Given the description of an element on the screen output the (x, y) to click on. 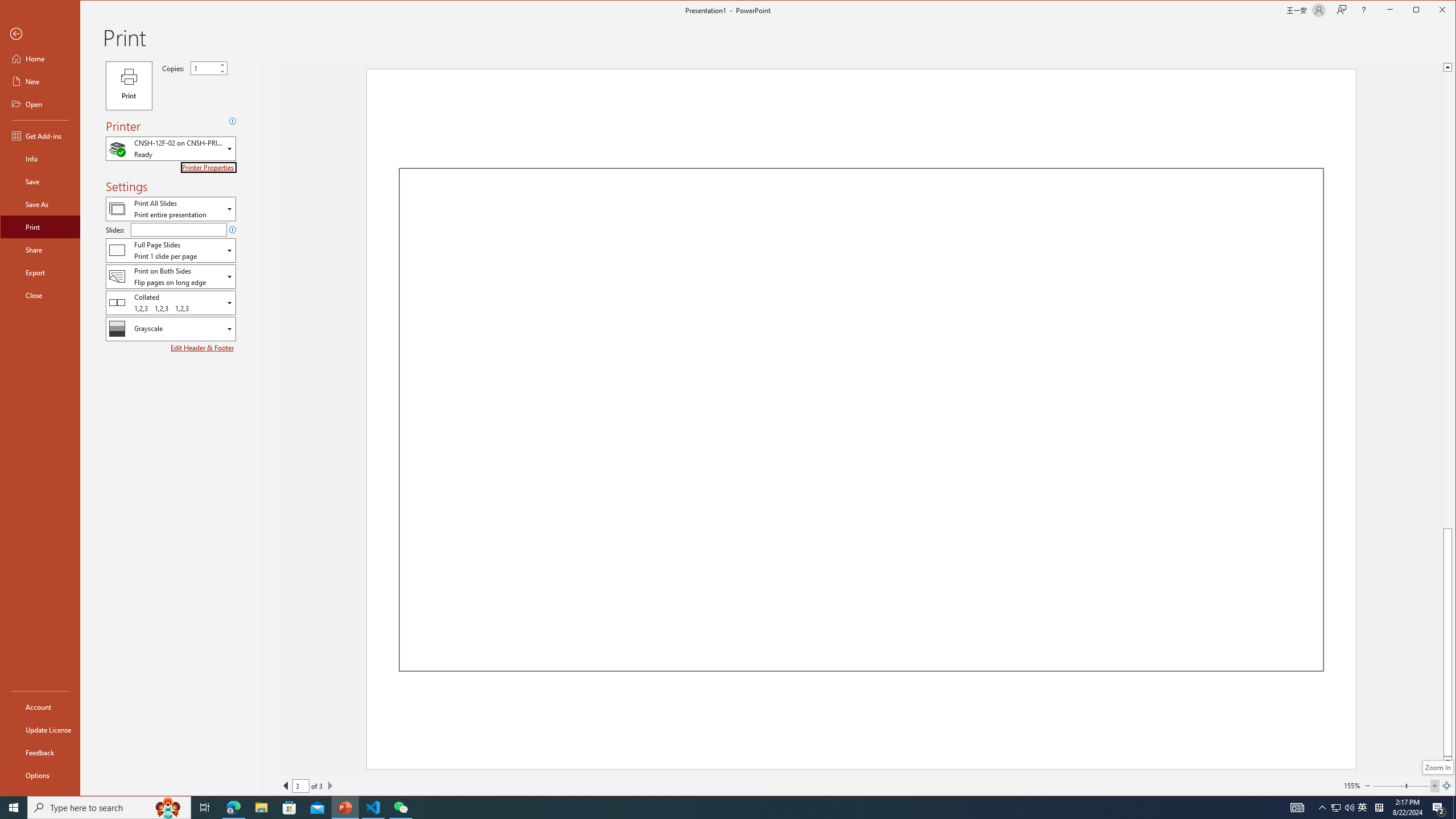
Copies (208, 68)
File Explorer (261, 807)
Task View (204, 807)
User Promoted Notification Area (1342, 807)
Print What (1335, 807)
Running applications (170, 208)
Microsoft Store (707, 807)
New (289, 807)
155% (40, 80)
